Given the description of an element on the screen output the (x, y) to click on. 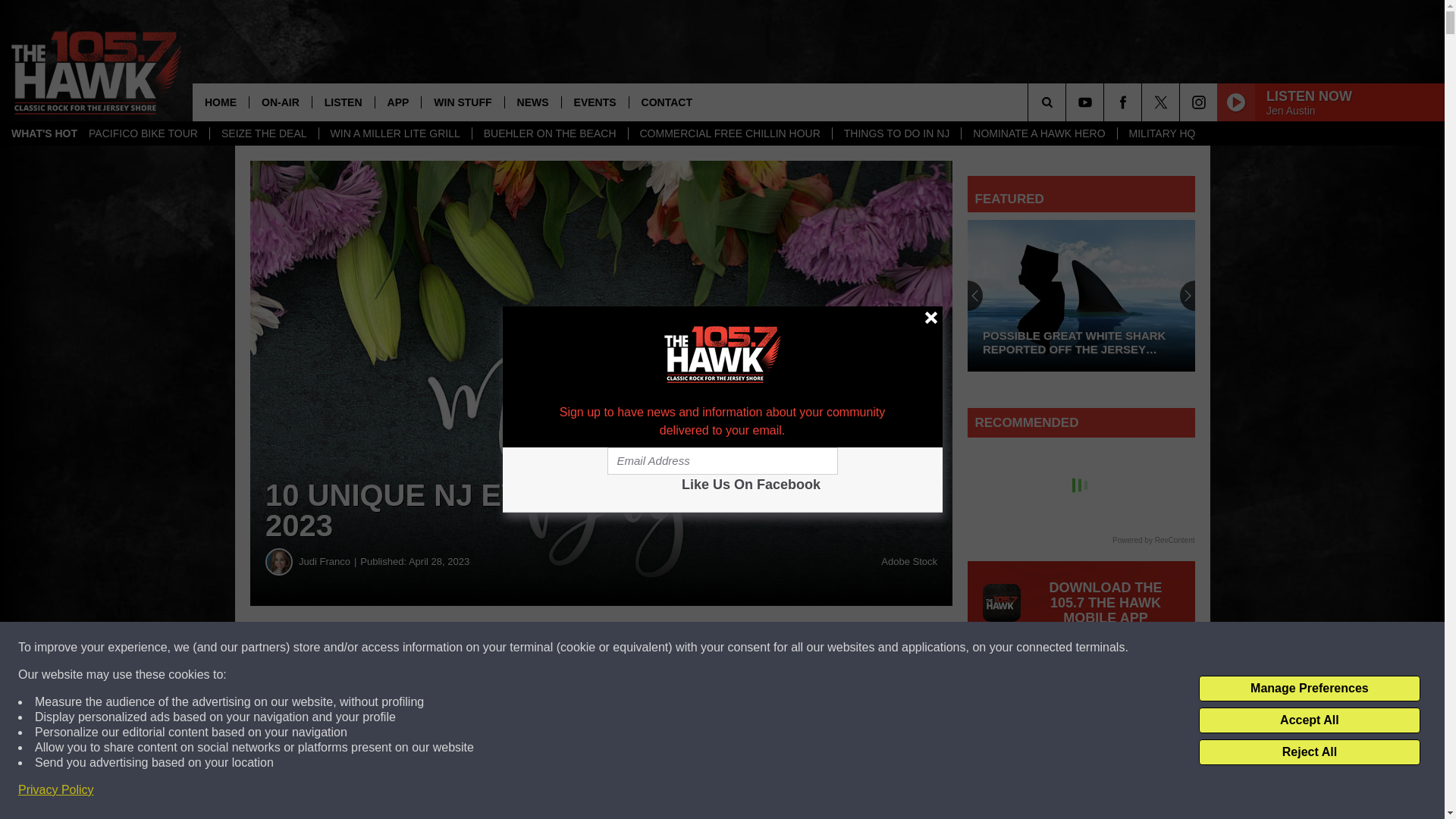
Privacy Policy (55, 789)
PACIFICO BIKE TOUR (143, 133)
Share on Twitter (741, 647)
Share on Facebook (460, 647)
APP (398, 102)
WIN STUFF (461, 102)
SEIZE THE DEAL (263, 133)
LISTEN (342, 102)
BUEHLER ON THE BEACH (549, 133)
Accept All (1309, 720)
COMMERCIAL FREE CHILLIN HOUR (729, 133)
SEARCH (1068, 102)
Email Address (722, 461)
SEARCH (1068, 102)
HOME (220, 102)
